Given the description of an element on the screen output the (x, y) to click on. 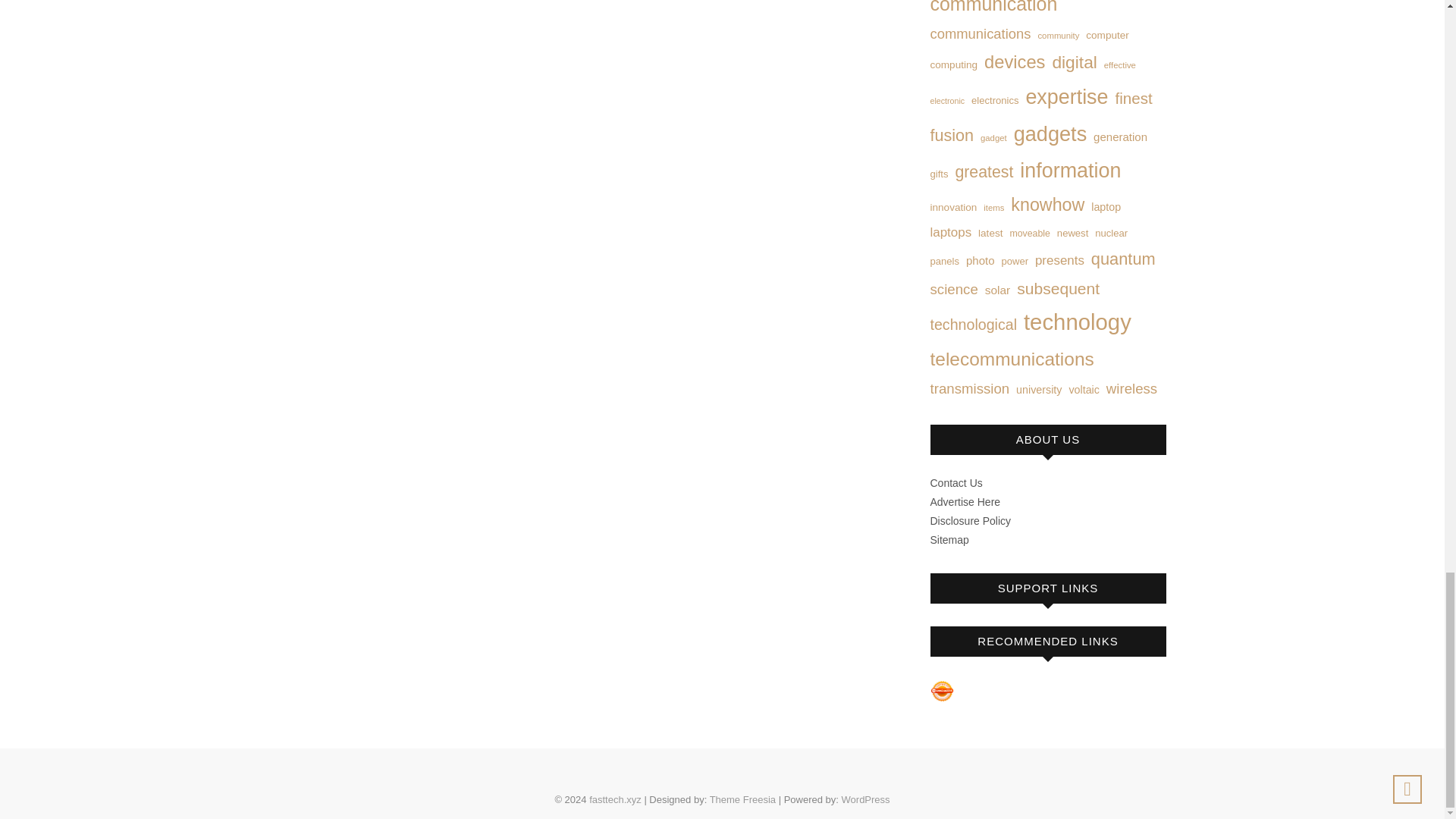
Seedbacklink (941, 690)
WordPress (865, 799)
fasttech.xyz (615, 799)
Theme Freesia (743, 799)
